Given the description of an element on the screen output the (x, y) to click on. 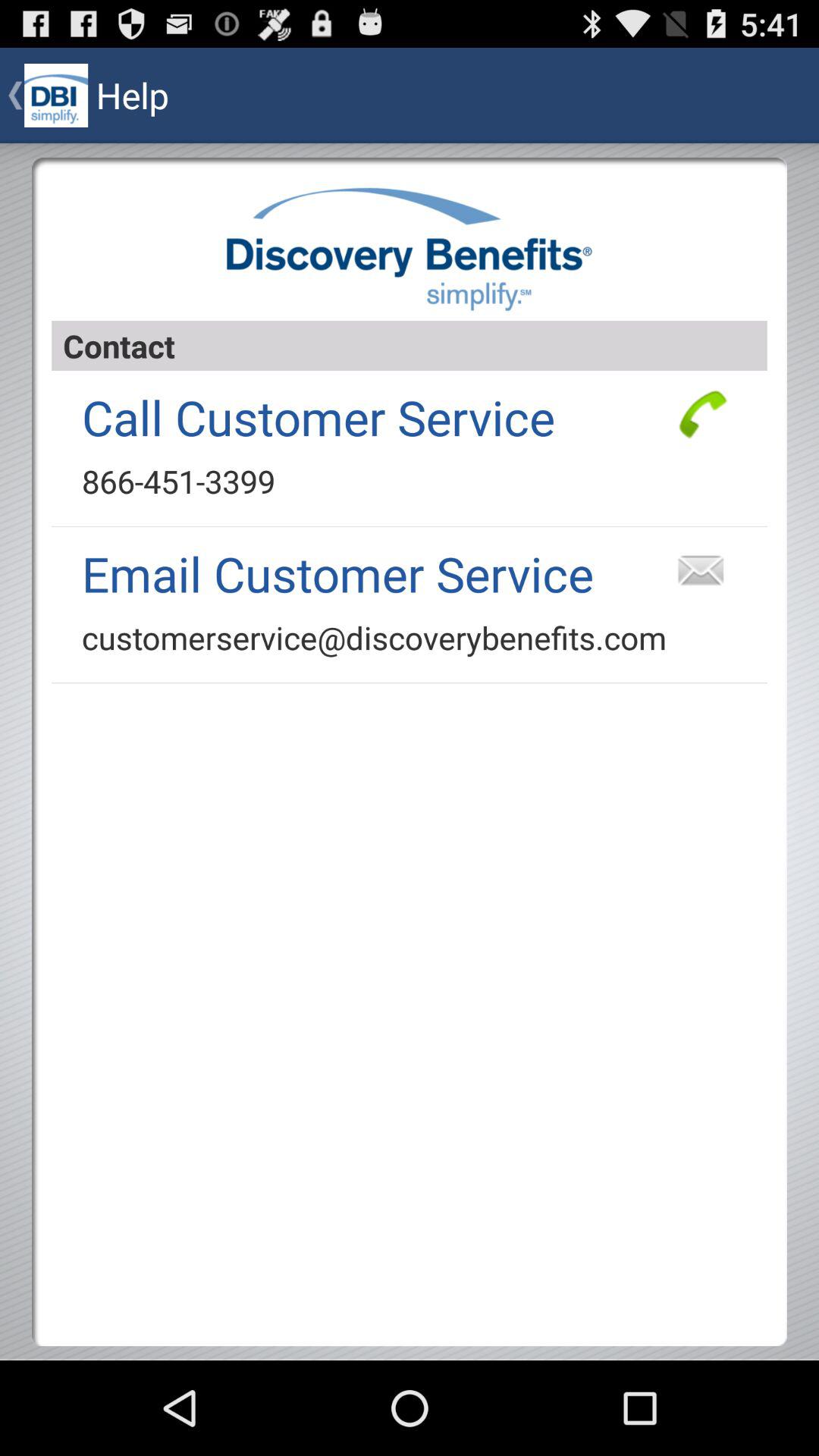
scroll until 866-451-3399 icon (178, 480)
